Given the description of an element on the screen output the (x, y) to click on. 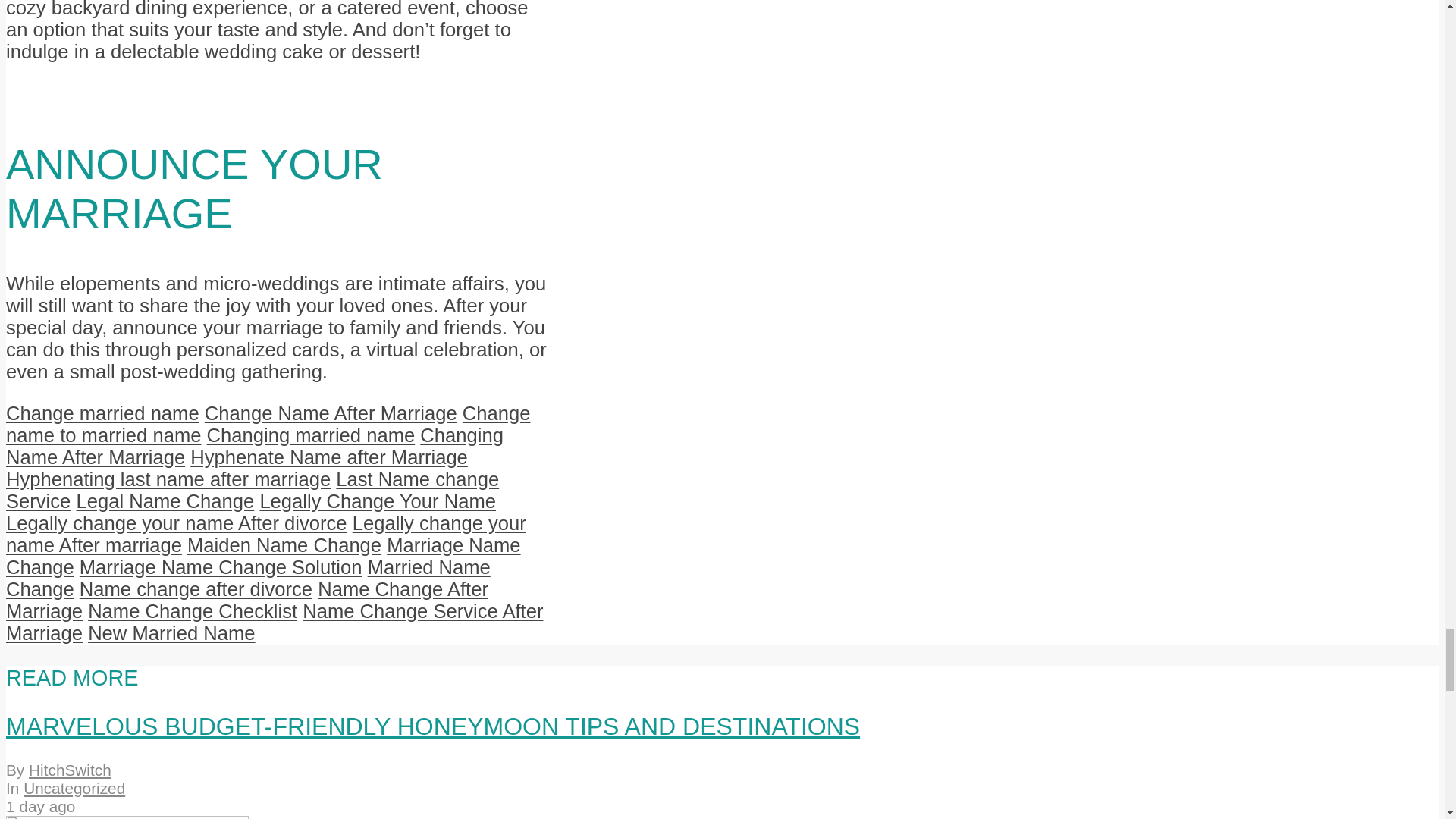
Legal Name Change (164, 500)
Married Name Change (247, 577)
Changing Name After Marriage (254, 446)
Maiden Name Change (284, 545)
Hyphenating last name after marriage (167, 478)
Legally change your name After divorce (176, 522)
Hyphenate Name after Marriage (328, 456)
Marriage Name Change Solution (221, 567)
New Married Name (170, 632)
Marriage Name Change (263, 556)
Legally Change Your Name (377, 500)
Change Name After Marriage (331, 413)
Changing married name (310, 435)
Legally change your name After marriage (265, 534)
Name Change Checklist (192, 610)
